Given the description of an element on the screen output the (x, y) to click on. 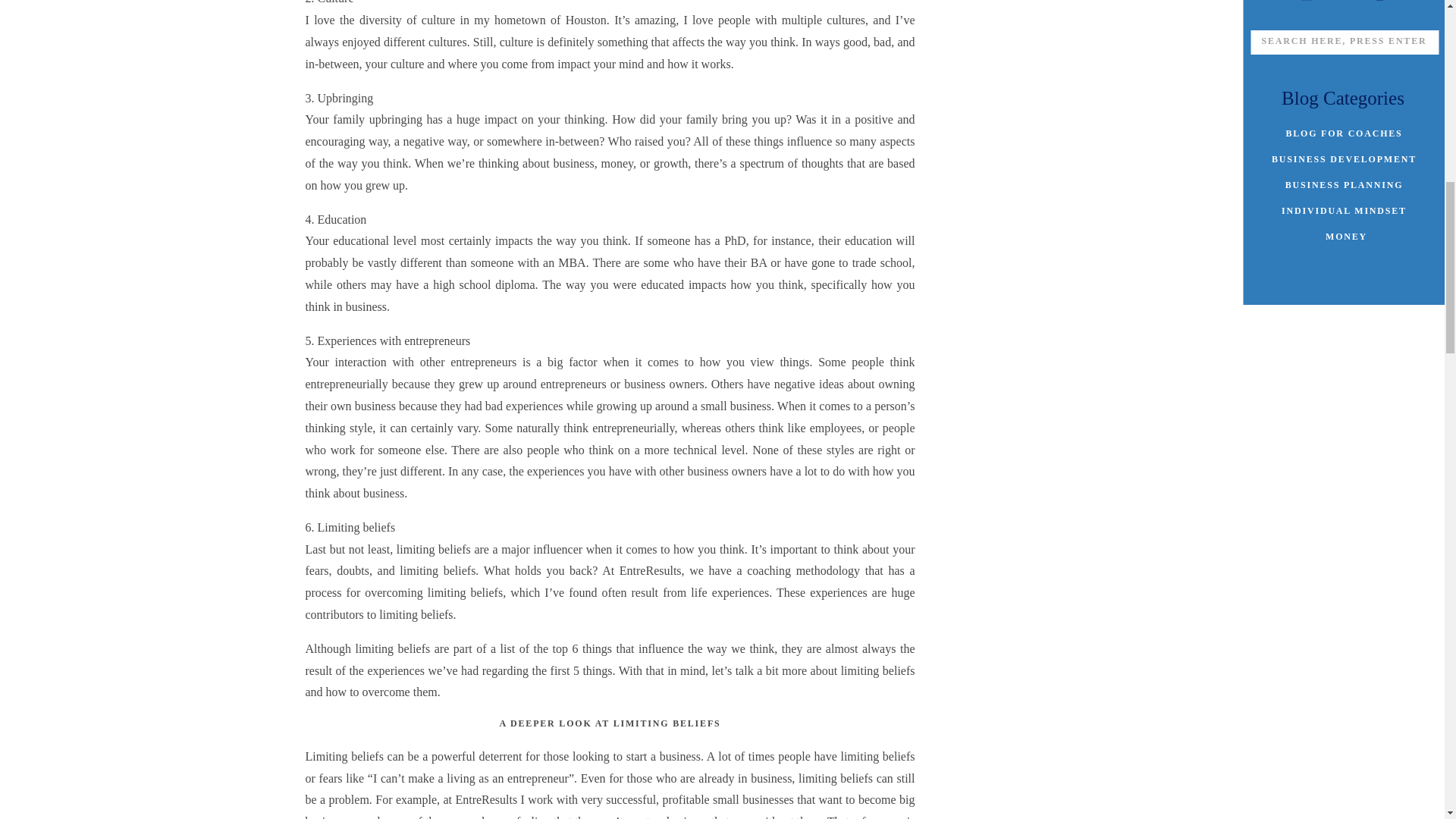
INDIVIDUAL MINDSET (1343, 209)
BUSINESS DEVELOPMENT (1343, 157)
BUSINESS PLANNING (1343, 183)
BLOG FOR COACHES (1343, 132)
MONEY (1346, 235)
